Given the description of an element on the screen output the (x, y) to click on. 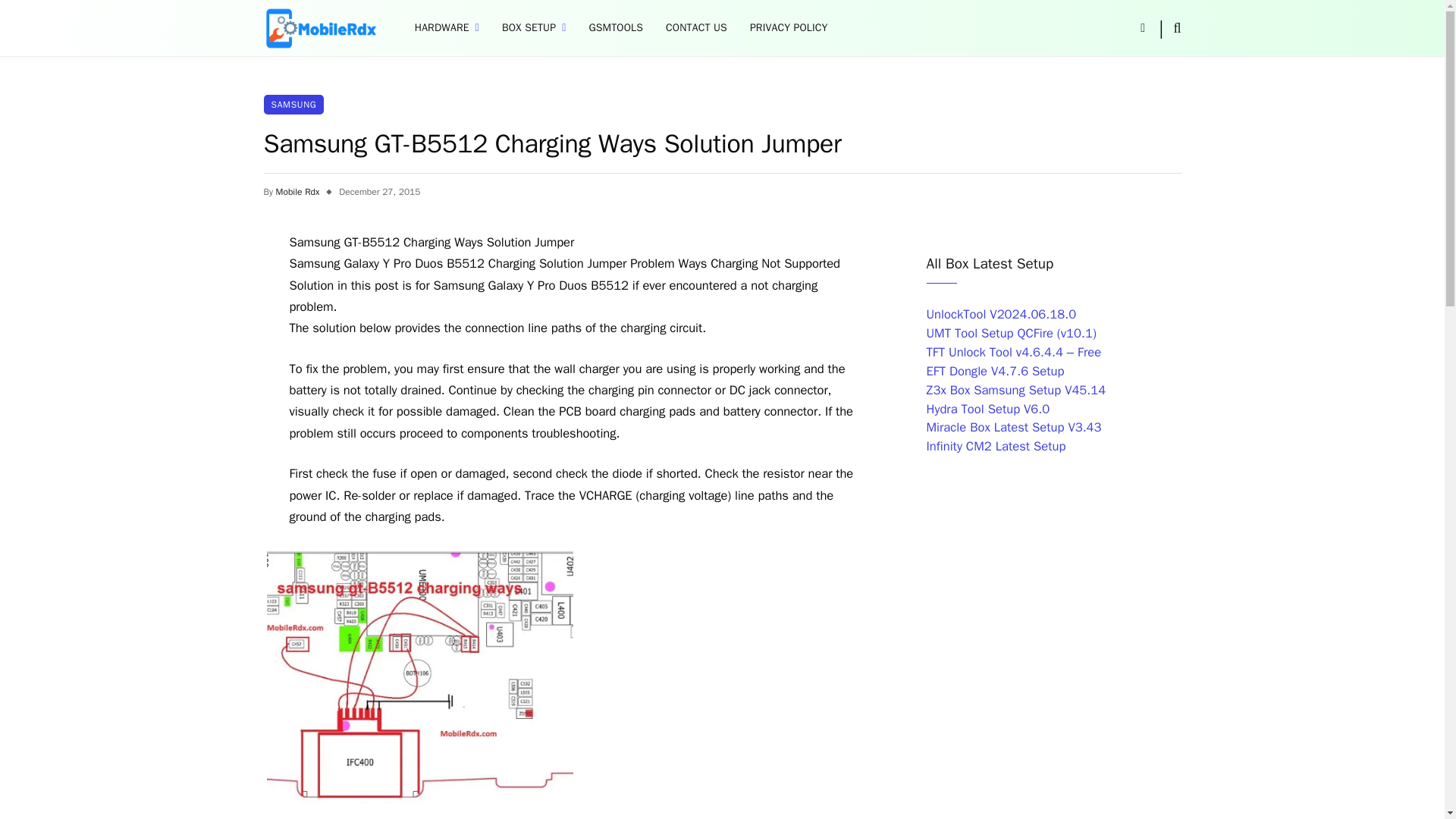
CONTACT US (695, 28)
GSMTOOLS (614, 28)
Mobile Rdx (298, 191)
Posts by Mobile Rdx (298, 191)
HARDWARE (446, 28)
BOX SETUP (533, 28)
SAMSUNG (293, 104)
Switch to Dark Design - easier on eyes. (1142, 28)
PRIVACY POLICY (789, 28)
MobileRdx (320, 28)
Samsung GT-B5512 Charging Ways Solution Jumper (419, 677)
